Given the description of an element on the screen output the (x, y) to click on. 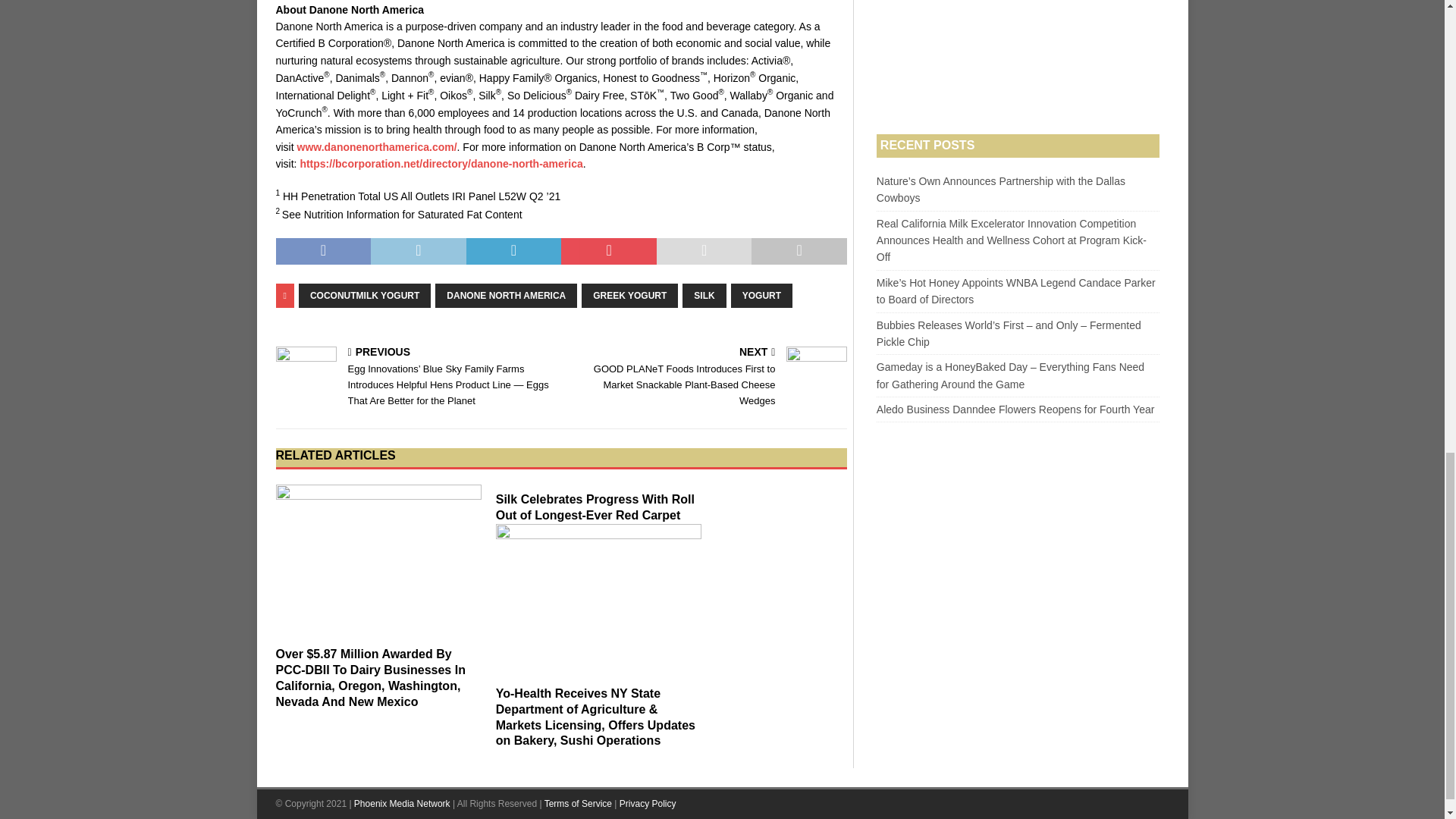
DANONE NORTH AMERICA (505, 295)
SILK (703, 295)
GREEK YOGURT (629, 295)
COCONUTMILK YOGURT (364, 295)
